Given the description of an element on the screen output the (x, y) to click on. 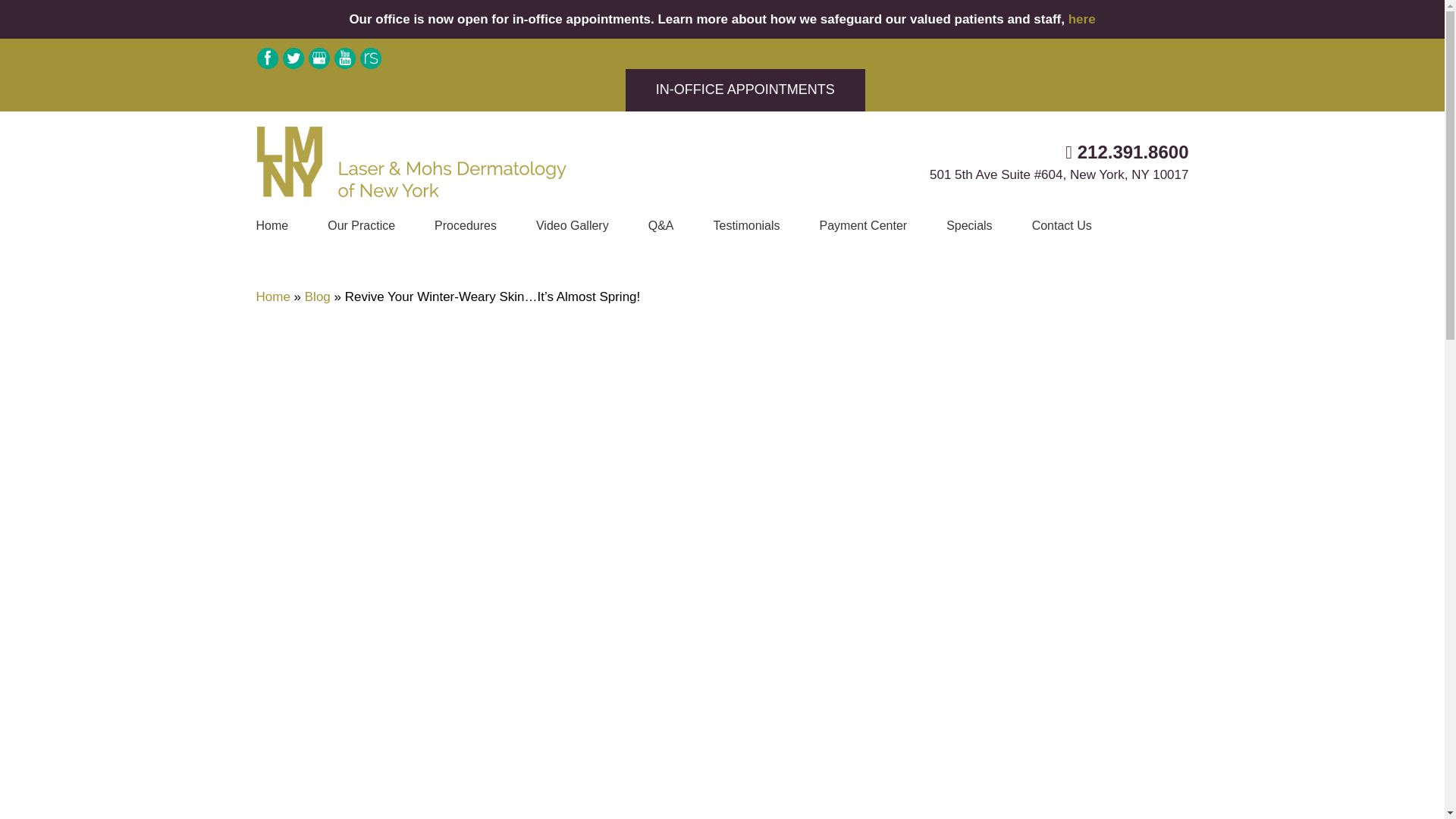
here (1082, 19)
212.391.8600 (1126, 151)
IN-OFFICE APPOINTMENTS (745, 89)
